Given the description of an element on the screen output the (x, y) to click on. 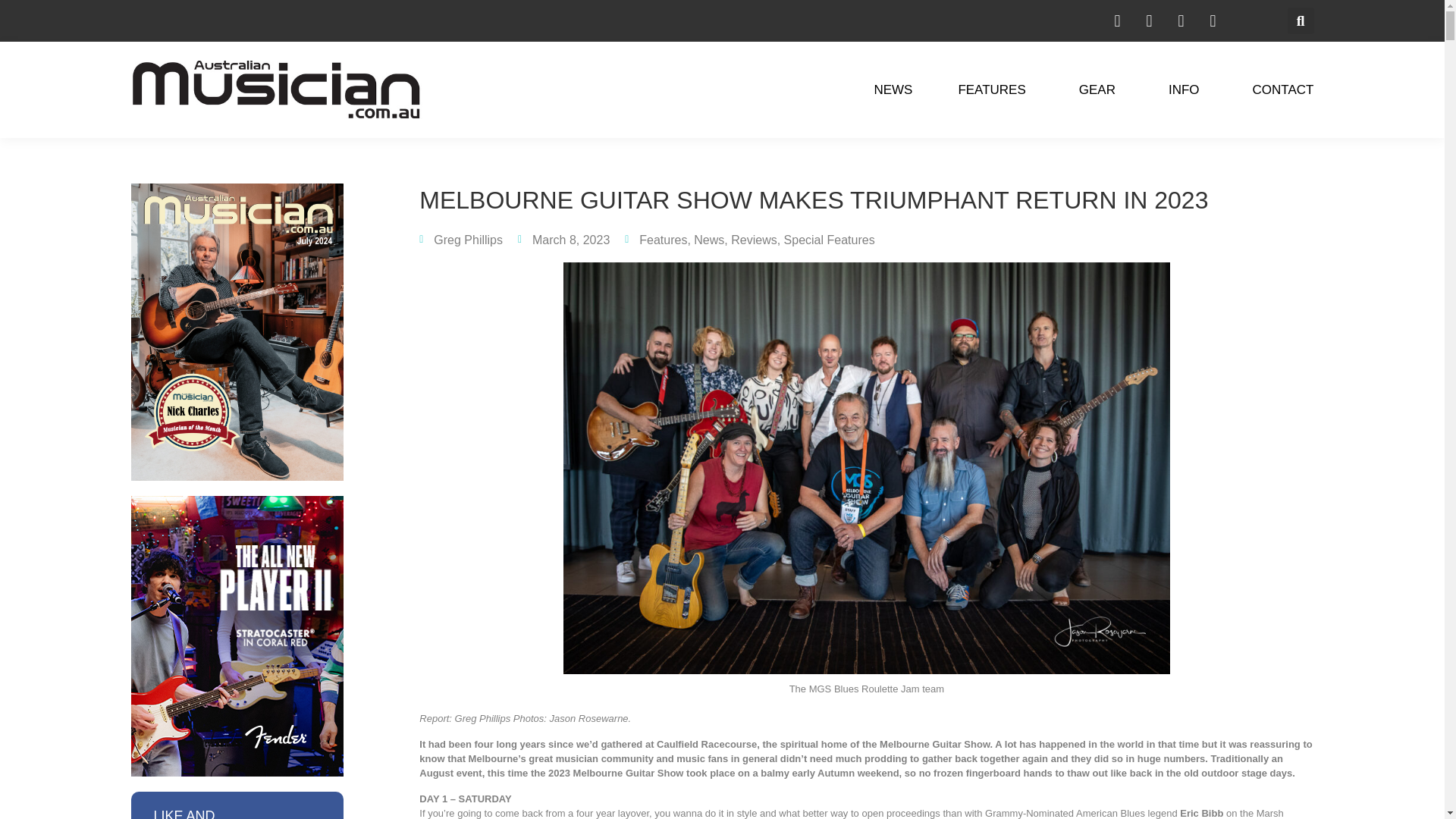
GEAR (1100, 89)
Youtube (1212, 20)
INFO (1188, 89)
Instagram (1116, 20)
Facebook-f (1148, 20)
NEWS (892, 89)
CONTACT (1283, 89)
Twitter (1180, 20)
FEATURES (995, 89)
